Given the description of an element on the screen output the (x, y) to click on. 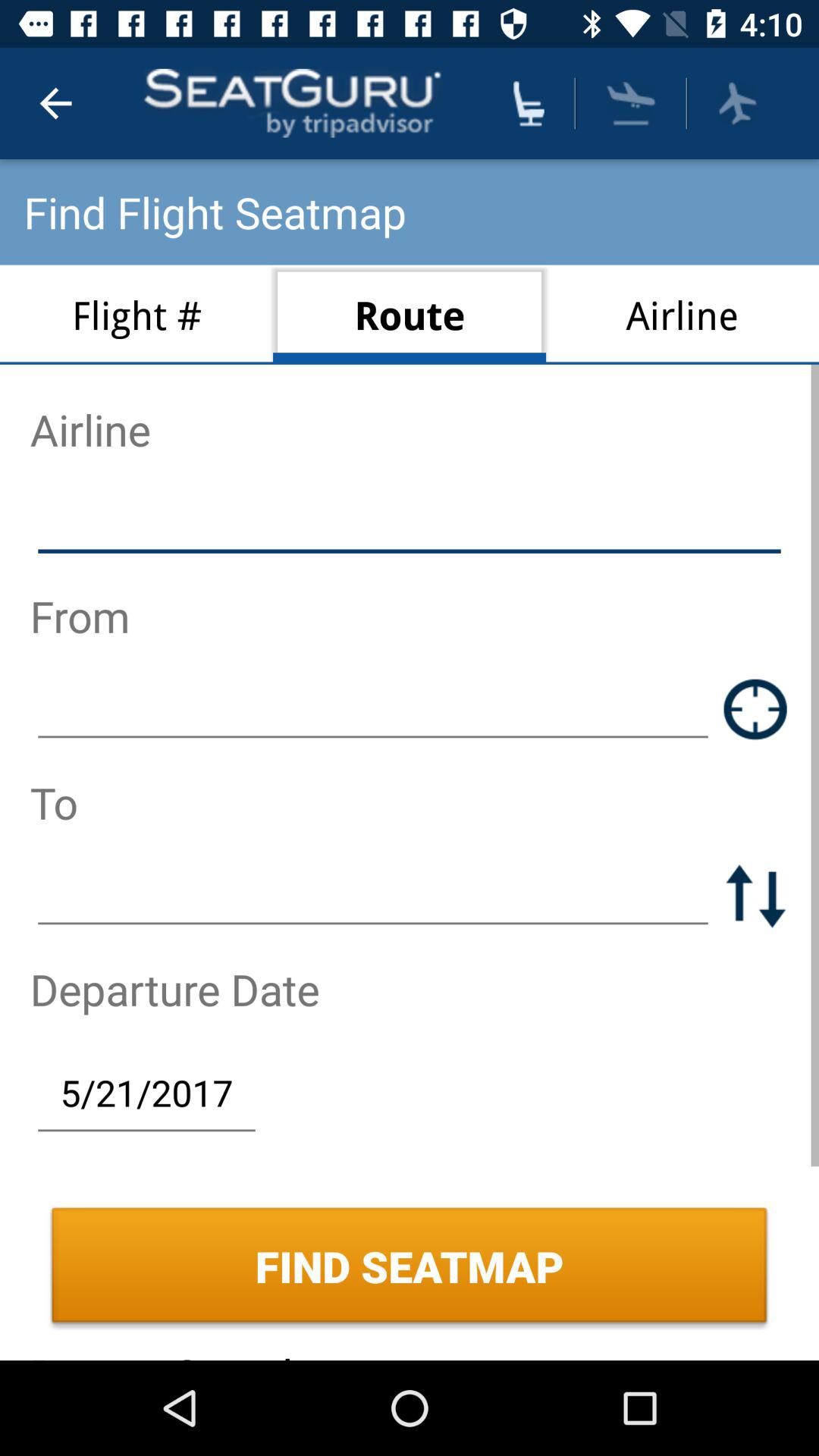
open item above airline icon (737, 103)
